Given the description of an element on the screen output the (x, y) to click on. 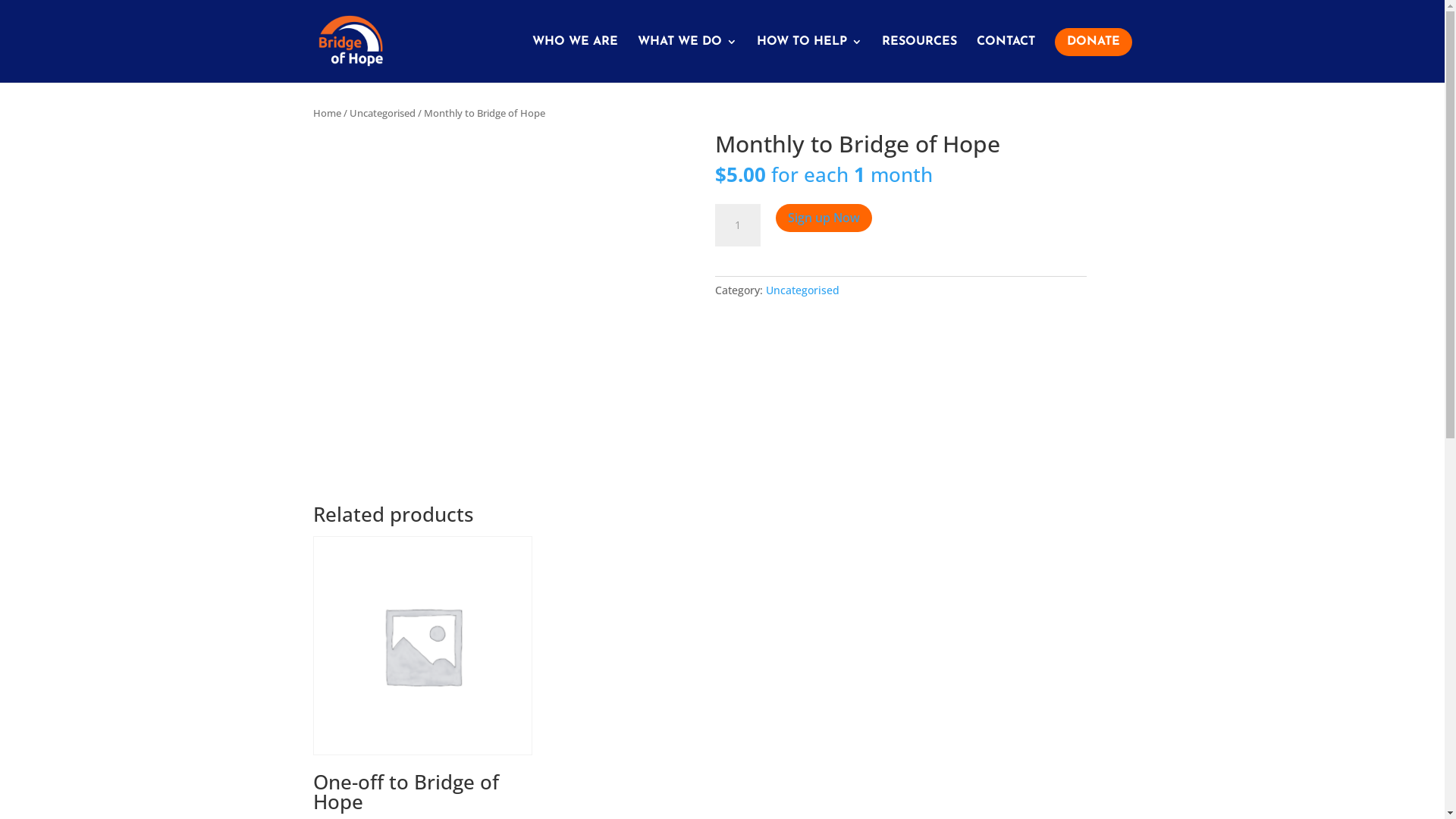
Qty Element type: hover (737, 224)
HOW TO HELP Element type: text (809, 54)
WHO WE ARE Element type: text (575, 54)
RESOURCES Element type: text (918, 54)
WHAT WE DO Element type: text (686, 54)
Uncategorised Element type: text (802, 289)
Sign up Now Element type: text (823, 217)
Uncategorised Element type: text (381, 112)
CONTACT Element type: text (1005, 54)
DONATE Element type: text (1092, 54)
Home Element type: text (326, 112)
